Given the description of an element on the screen output the (x, y) to click on. 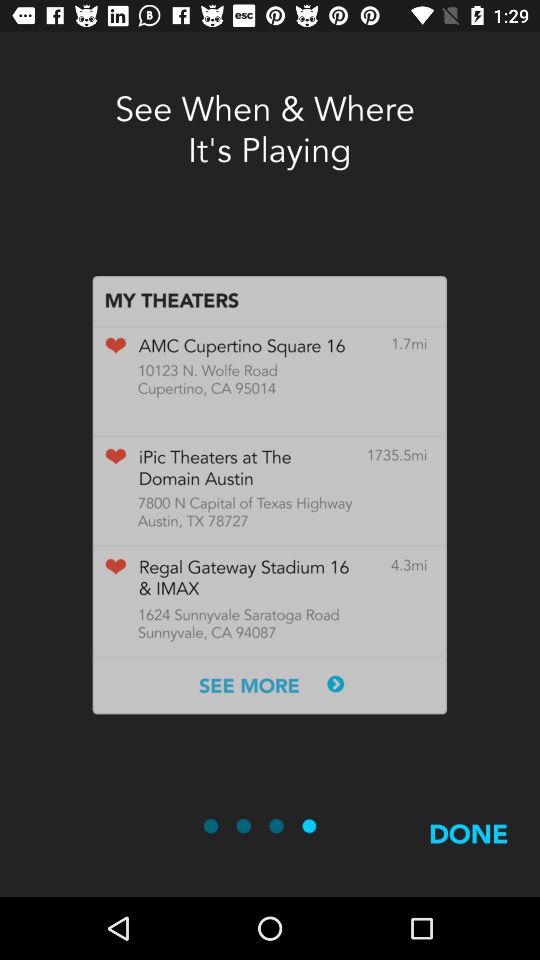
screenshot (269, 495)
